Given the description of an element on the screen output the (x, y) to click on. 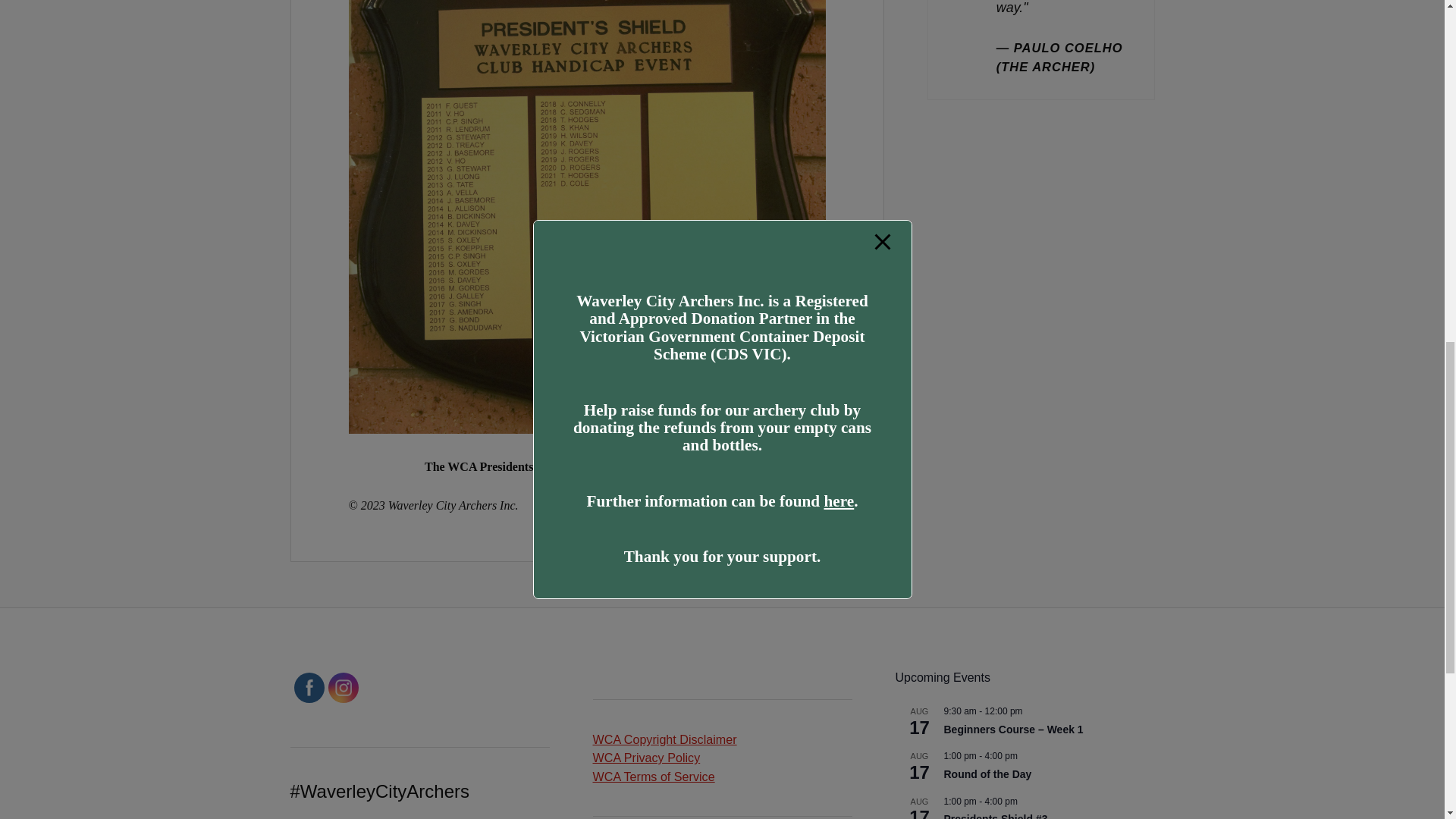
Facebook (308, 687)
Instagram (343, 687)
Round of the Day (986, 774)
